Given the description of an element on the screen output the (x, y) to click on. 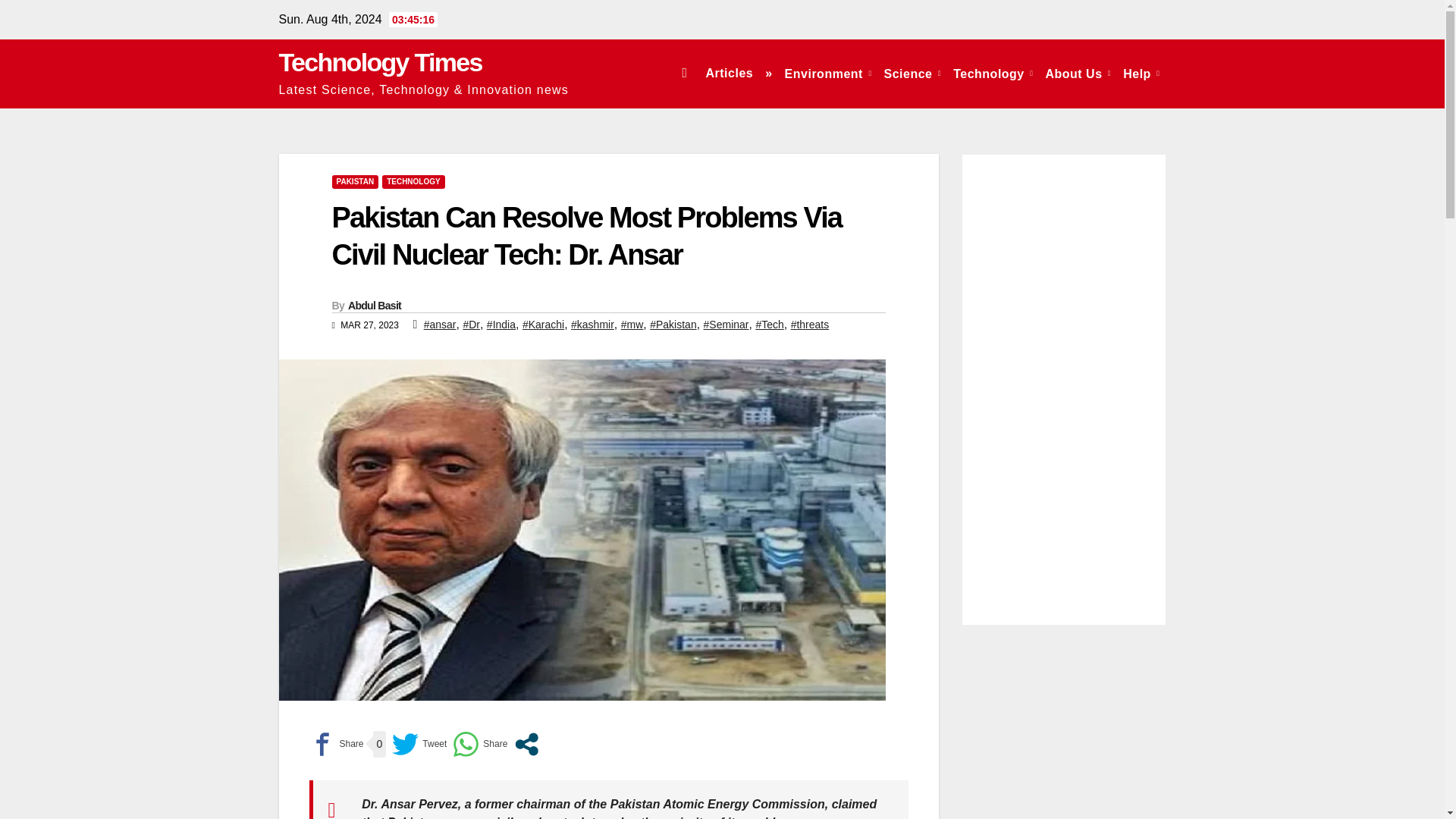
Science (912, 73)
Technology (993, 73)
Technology Times (380, 61)
Technology (993, 73)
Environment (827, 73)
Science (912, 73)
Environment (827, 73)
About Us (1077, 73)
